Given the description of an element on the screen output the (x, y) to click on. 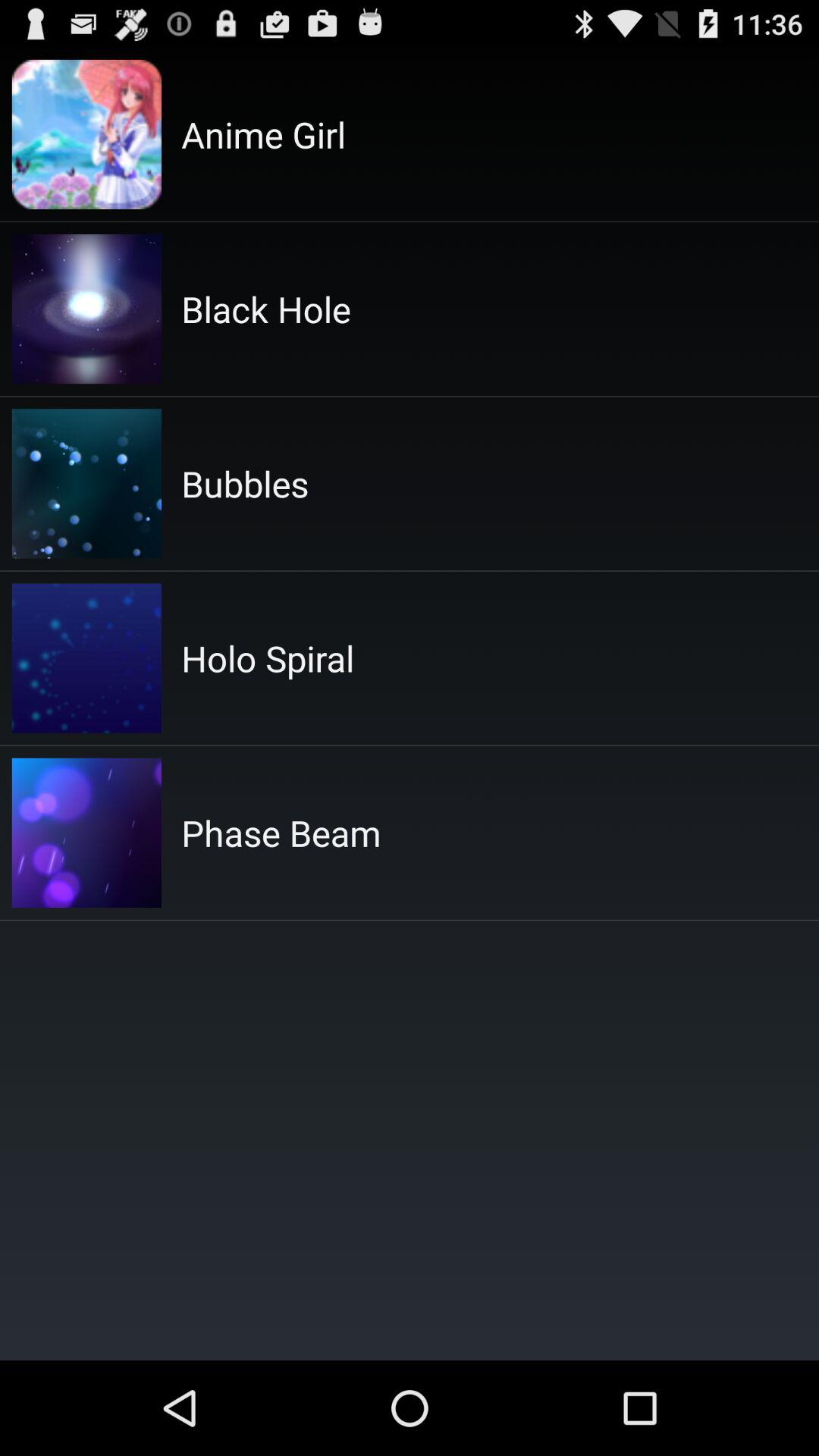
click icon above black hole app (263, 134)
